Given the description of an element on the screen output the (x, y) to click on. 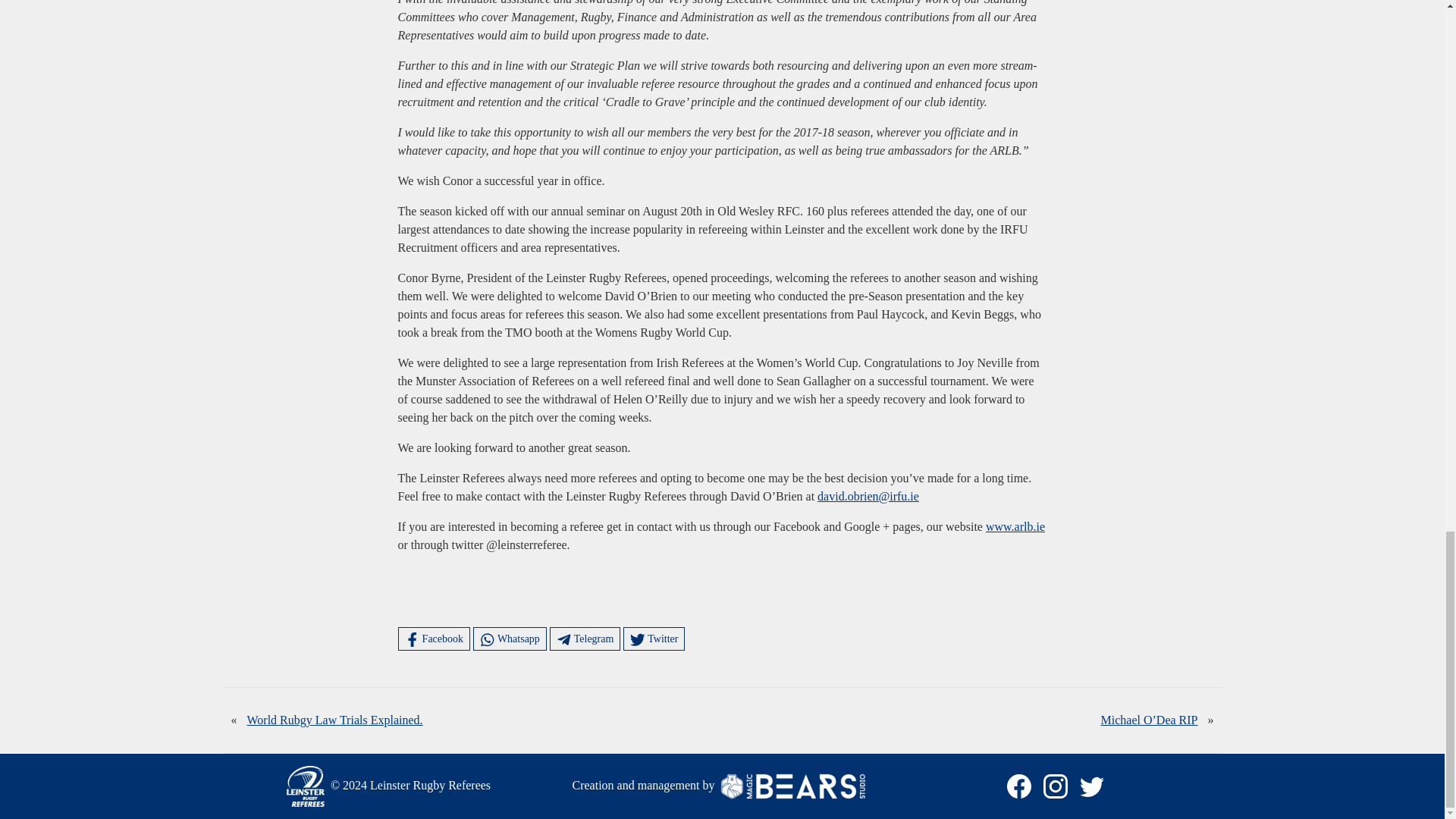
Share on Whatsapp (510, 639)
Share on Twitter (653, 639)
Share on Telegram (585, 639)
Share on Facebook (433, 639)
